Given the description of an element on the screen output the (x, y) to click on. 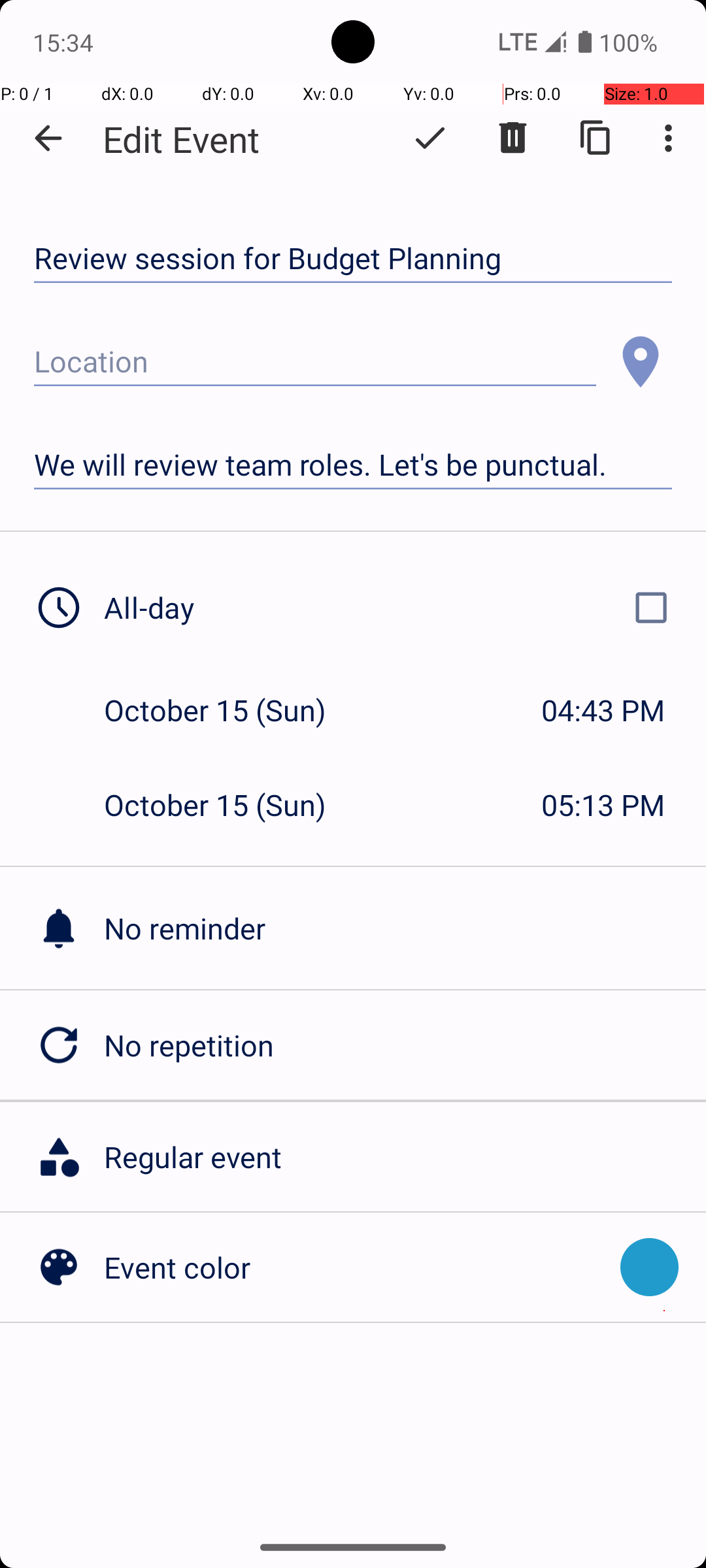
We will review team roles. Let's be punctual. Element type: android.widget.EditText (352, 465)
04:43 PM Element type: android.widget.TextView (602, 709)
05:13 PM Element type: android.widget.TextView (602, 804)
